Given the description of an element on the screen output the (x, y) to click on. 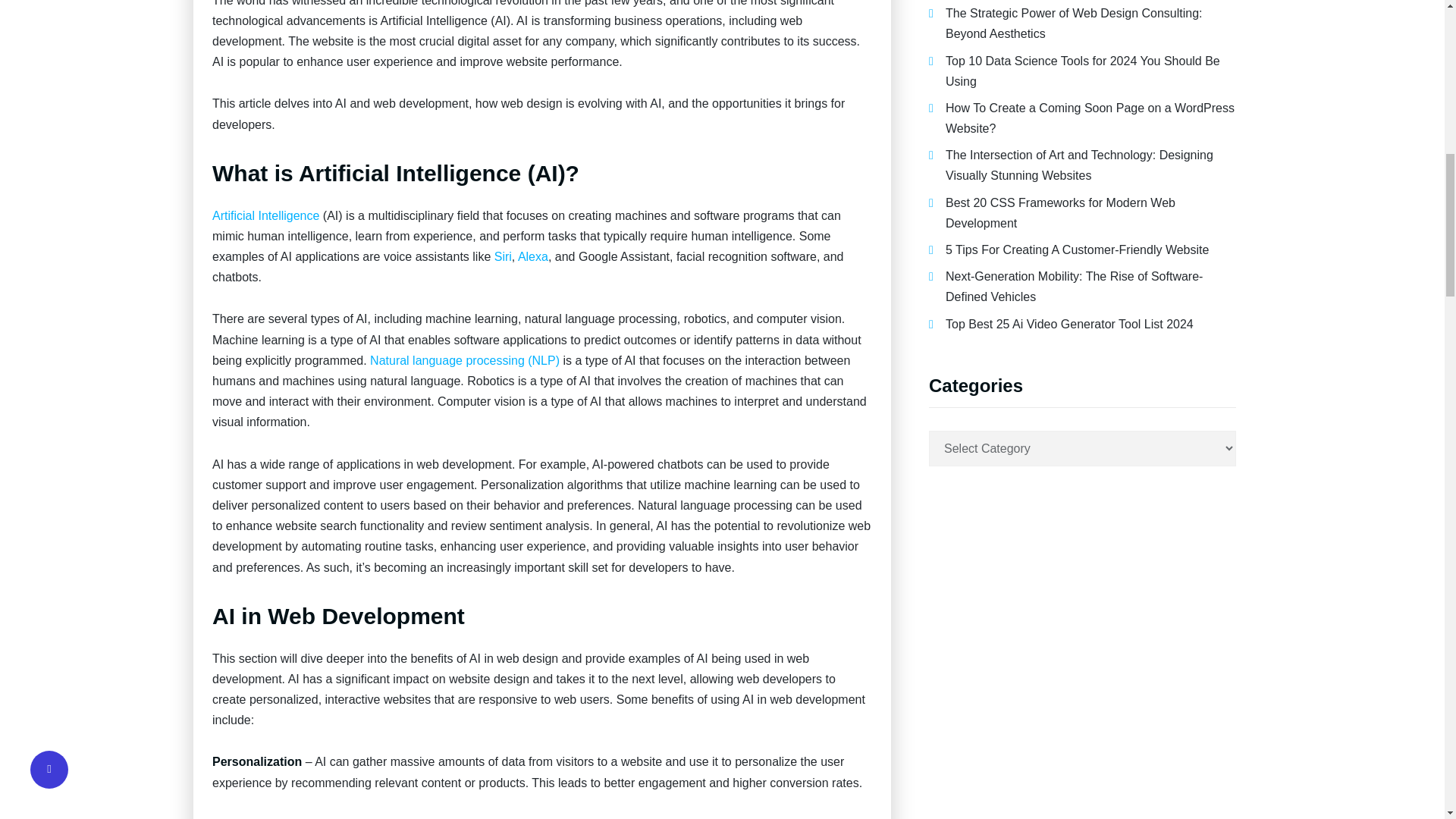
Alexa (533, 256)
5 Tips For Creating A Customer-Friendly Website (1076, 249)
Best 20 CSS Frameworks for Modern Web Development (1059, 213)
How To Create a Coming Soon Page on a WordPress Website? (1089, 118)
Siri (503, 256)
Top 10 Data Science Tools for 2024 You Should Be Using (1082, 70)
Artificial Intelligence (265, 215)
